Given the description of an element on the screen output the (x, y) to click on. 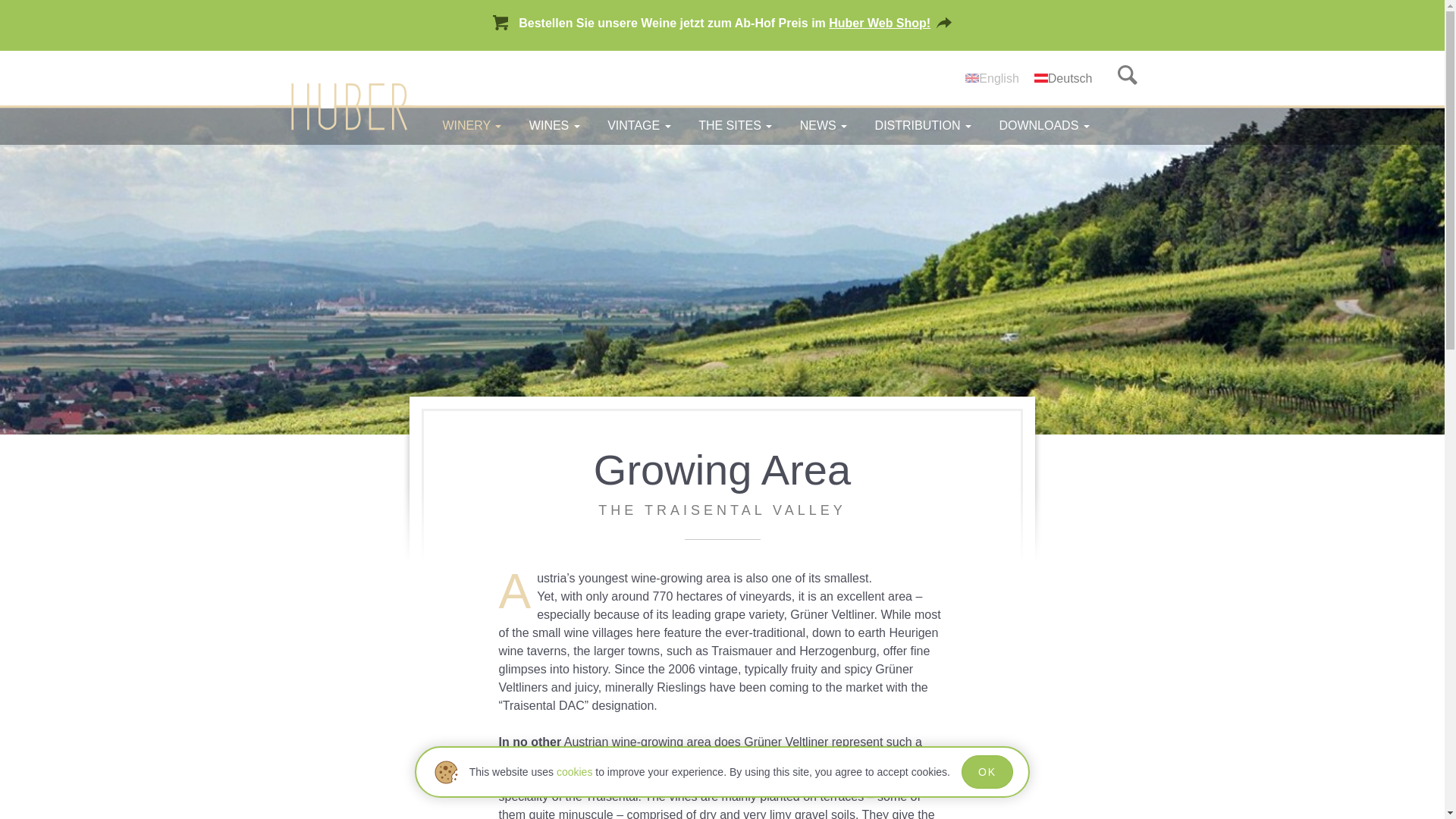
Search Winery Huber (1126, 77)
Deutsch (1040, 77)
English (971, 77)
